Given the description of an element on the screen output the (x, y) to click on. 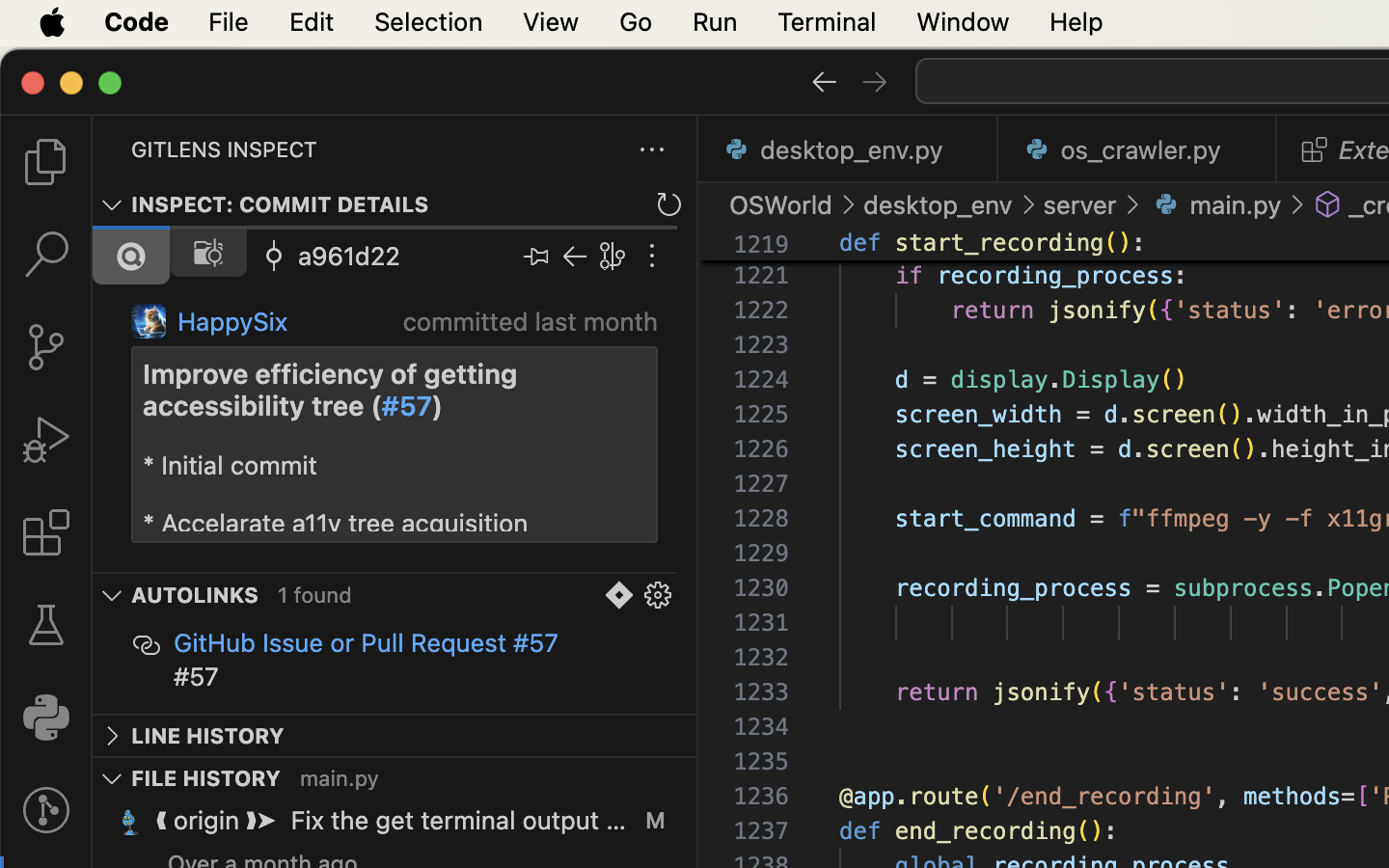
1219 Element type: AXStaticText (761, 244)
 Element type: AXStaticText (1296, 204)
 Element type: AXStaticText (574, 256)
Improve efficiency of getting accessibility tree ( Element type: AXStaticText (333, 390)
 Element type: AXGroup (46, 809)
